Given the description of an element on the screen output the (x, y) to click on. 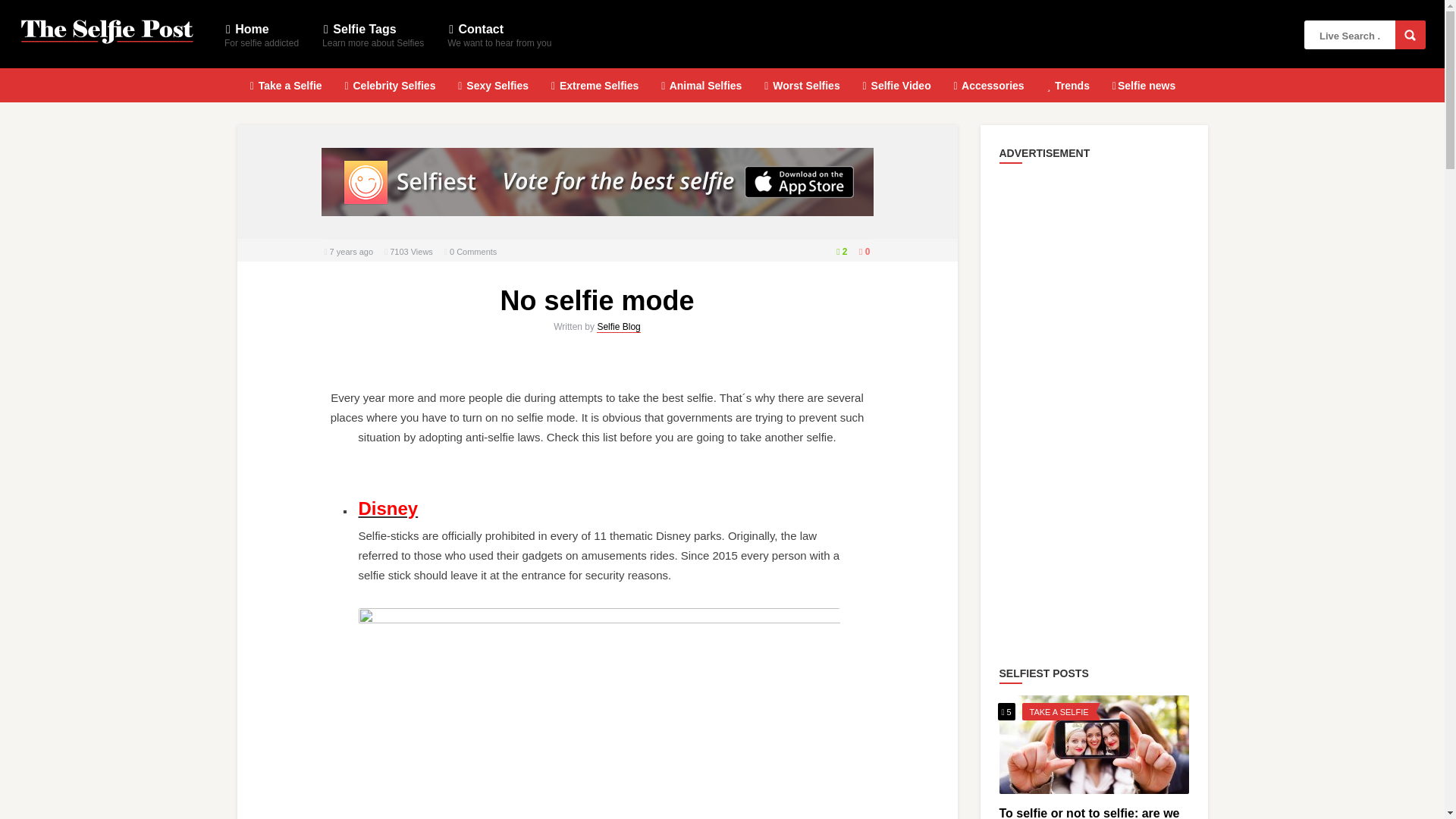
Extreme Selfies (594, 83)
Animal Selfies (701, 83)
0 Comments (472, 251)
Worst Selfies (801, 83)
Selfie Blog (618, 326)
Celebrity Selfies (389, 83)
Search (1409, 34)
Trends (1067, 83)
Posts by Selfie Blog (618, 326)
Take a Selfie (286, 83)
Selfie news (1143, 83)
Accessories (261, 34)
View all posts in Take a selfie (988, 83)
Sexy Selfies (1059, 711)
